Given the description of an element on the screen output the (x, y) to click on. 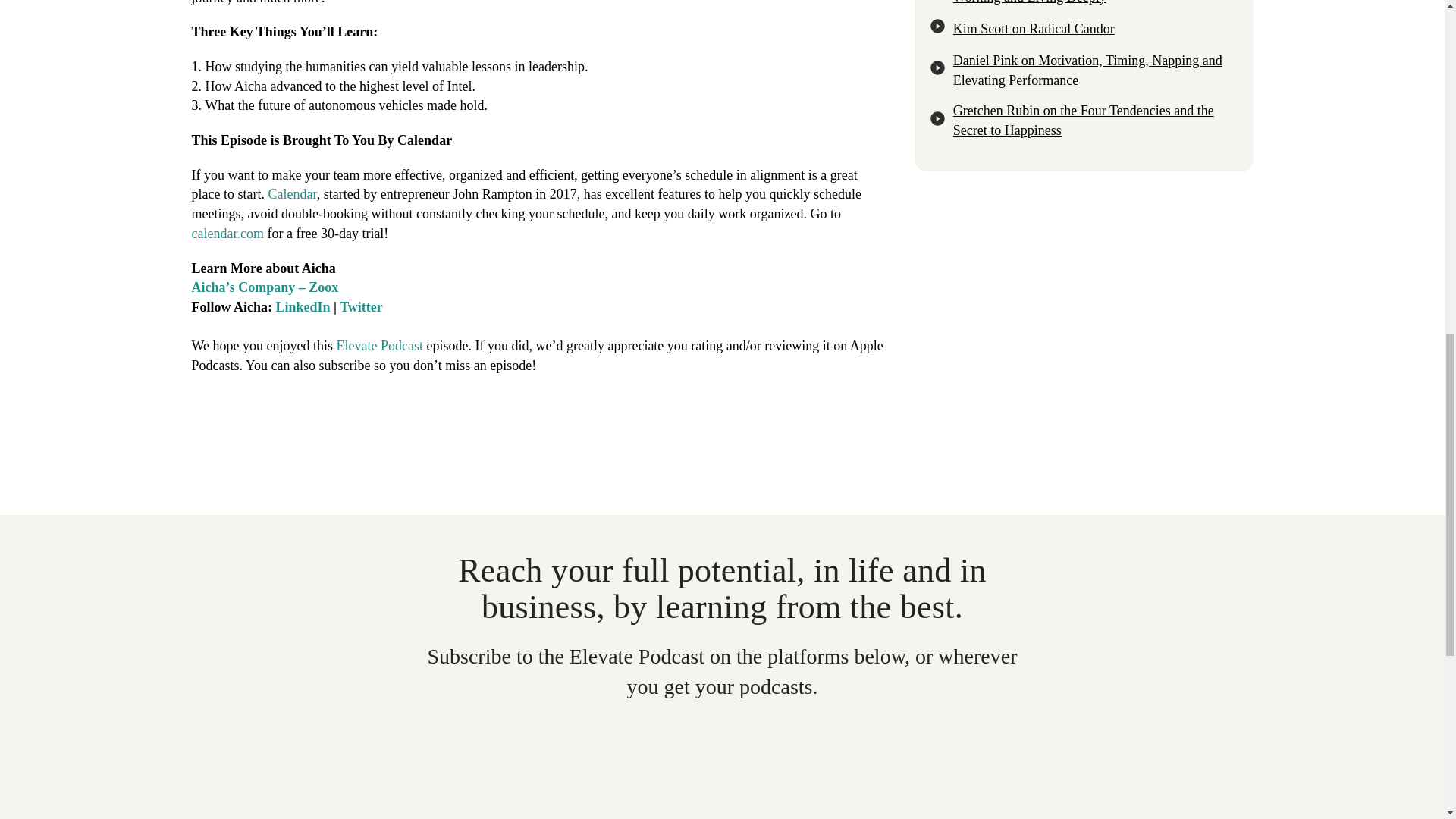
Elevate Podcast (379, 345)
LinkedIn (303, 306)
calendar.com (226, 233)
Calendar (291, 193)
Kim Scott on Radical Candor (1084, 29)
Twitter (360, 306)
